Given the description of an element on the screen output the (x, y) to click on. 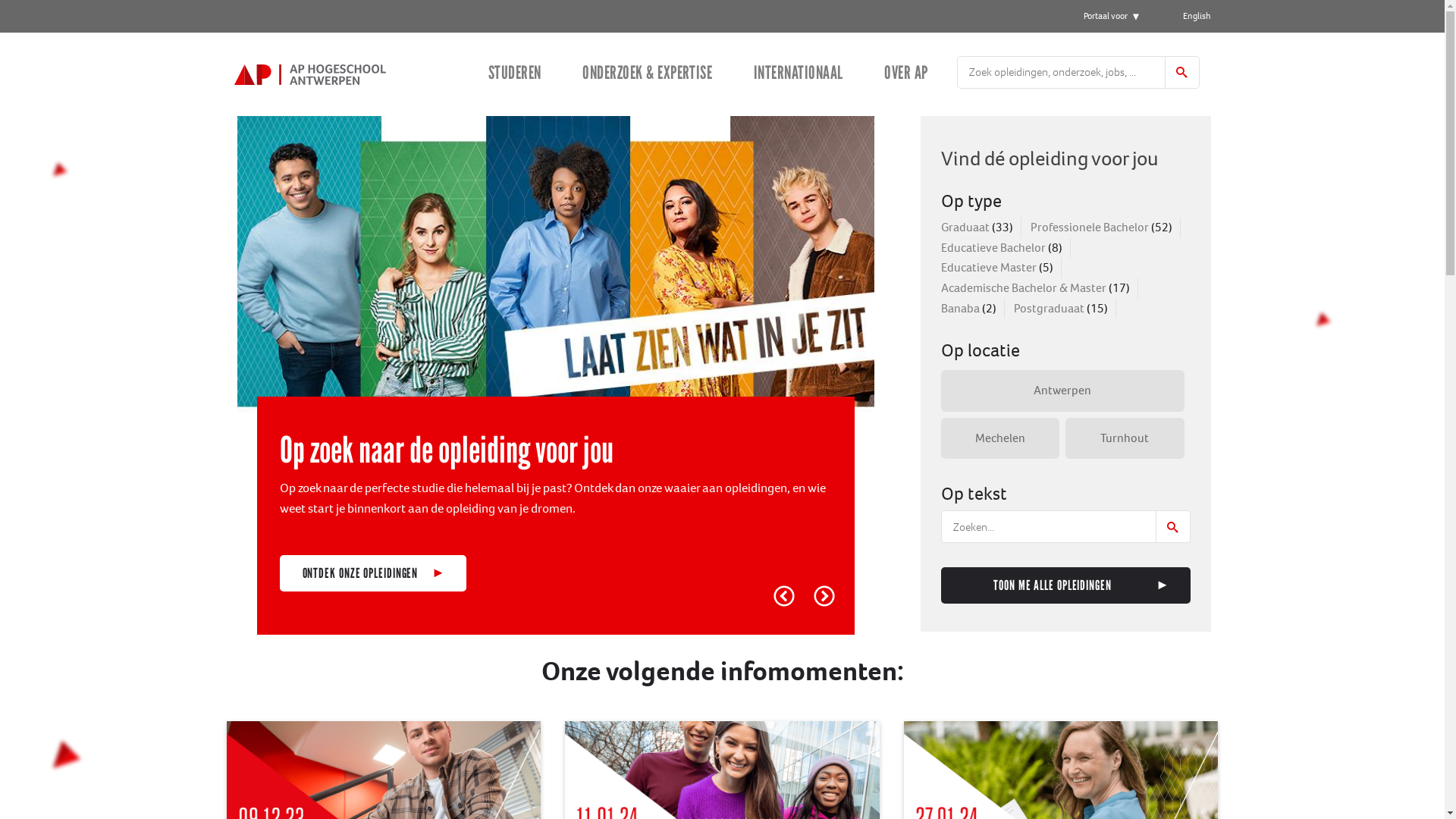
Postgraduaat (15) Element type: text (1060, 308)
English Element type: text (1197, 16)
Educatieve Master (5) Element type: text (996, 267)
Banaba (2) Element type: text (967, 308)
Educatieve Bachelor (8) Element type: text (1000, 248)
ONDERZOEK & EXPERTISE Element type: text (647, 74)
OVER AP Element type: text (905, 74)
Antwerpen Element type: text (1061, 390)
Academische Bachelor & Master (17) Element type: text (1034, 288)
STUDEREN Element type: text (514, 74)
Overslaan en naar de inhoud gaan Element type: text (0, 0)
Professionele Bachelor (52) Element type: text (1100, 227)
INTERNATIONAAL Element type: text (798, 74)
Mechelen Element type: text (999, 438)
Graduaat (33) Element type: text (976, 227)
Turnhout Element type: text (1124, 438)
TOON ME ALLE OPLEIDINGEN Element type: text (1064, 585)
